Given the description of an element on the screen output the (x, y) to click on. 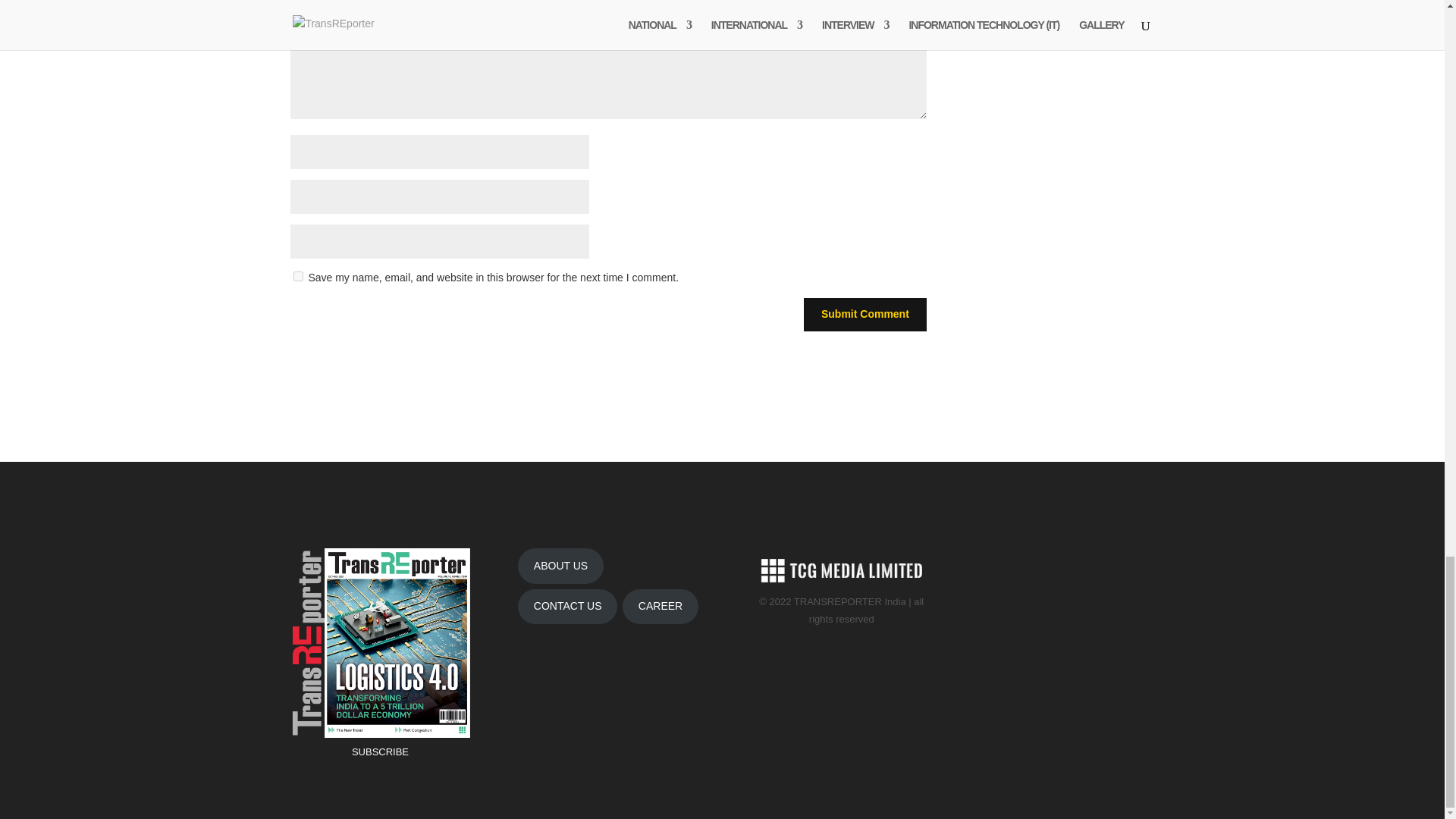
yes (297, 276)
Submit Comment (864, 314)
